Given the description of an element on the screen output the (x, y) to click on. 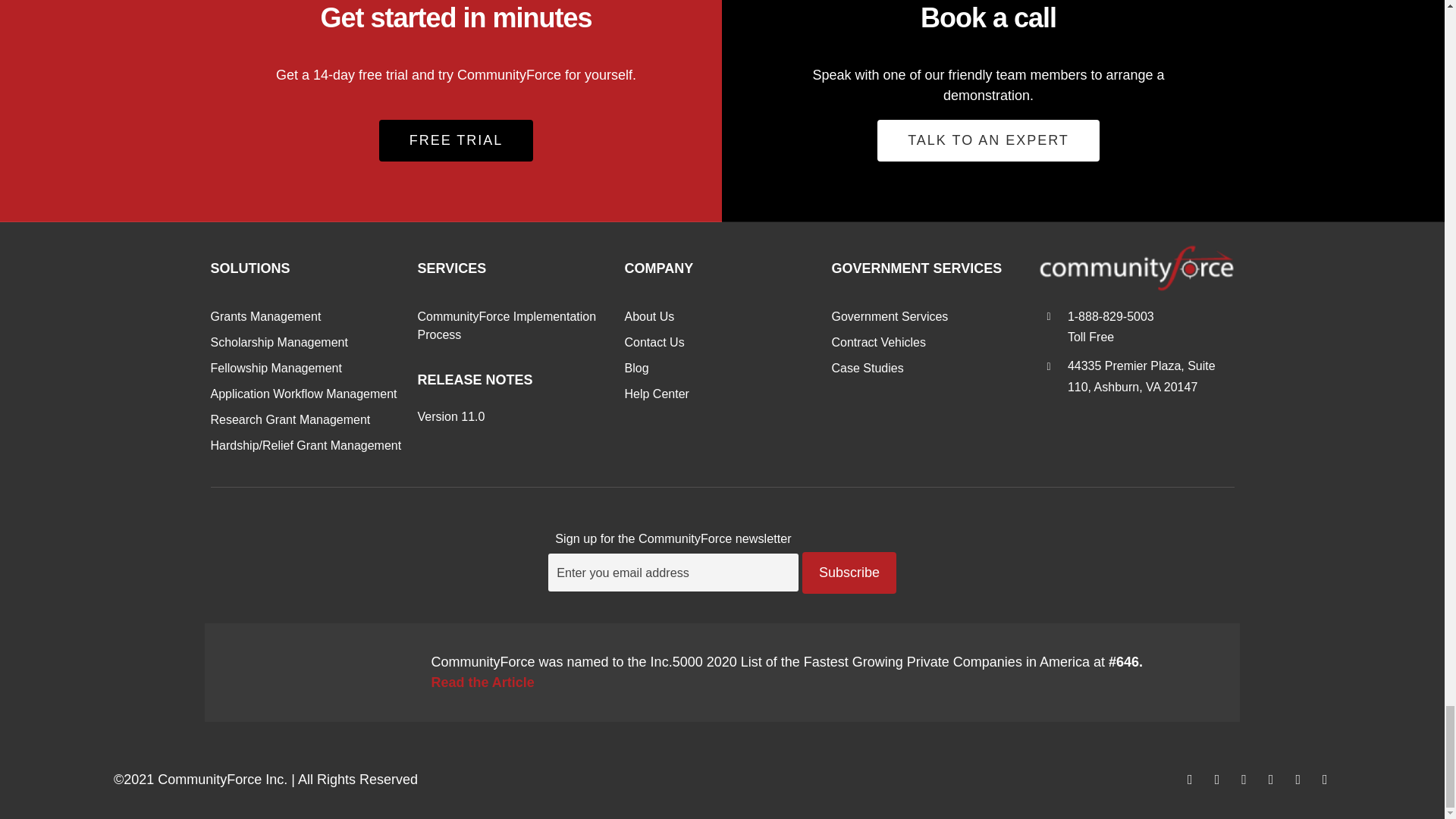
Enter you email address (672, 572)
Subscribe (849, 572)
